Given the description of an element on the screen output the (x, y) to click on. 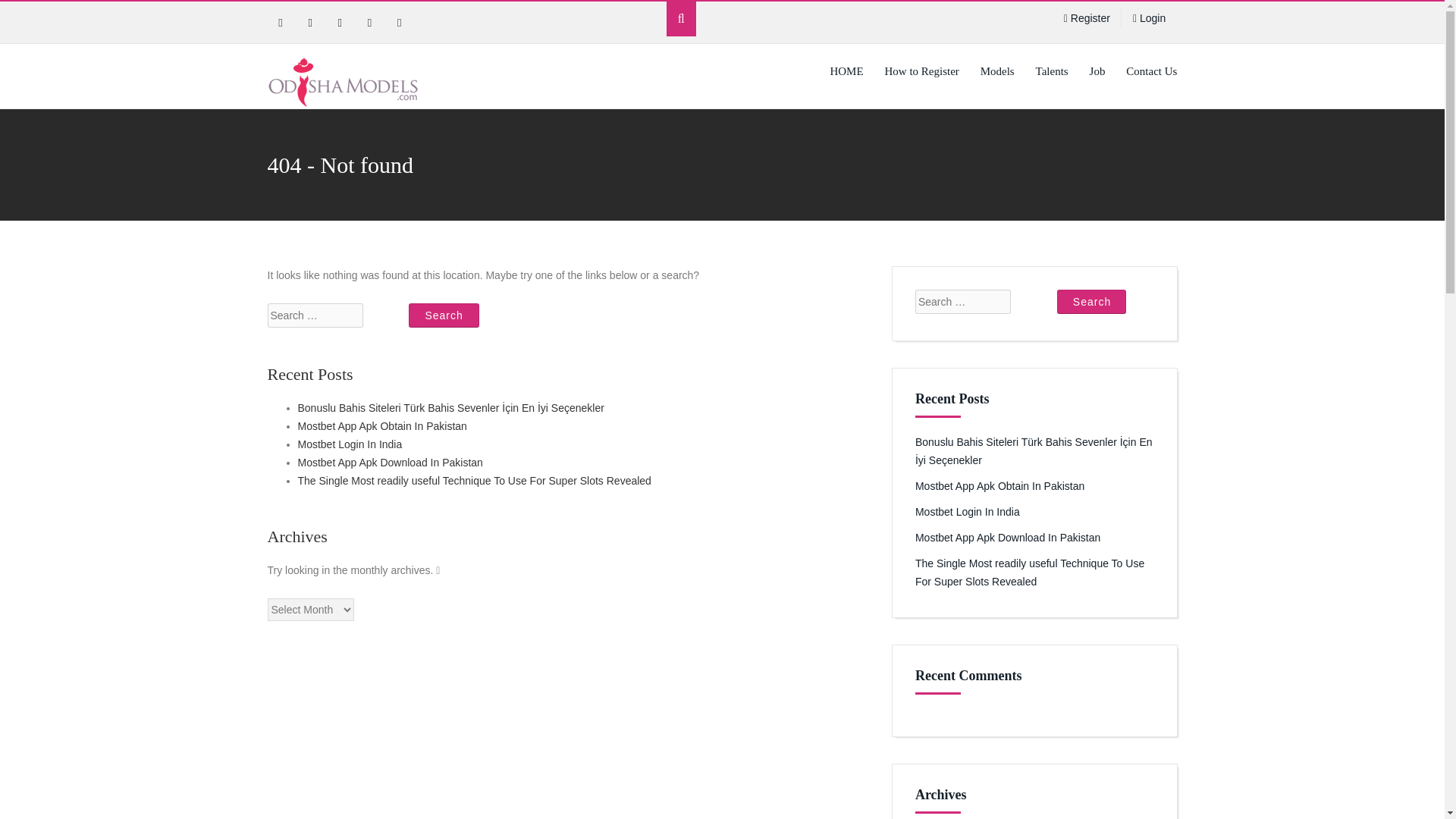
Contact Us (1151, 71)
Talents (1051, 71)
Mostbet Login In India (349, 444)
Search (444, 315)
Mostbet App Apk Download In Pakistan (389, 462)
Search (444, 315)
Search (444, 315)
Search (1091, 301)
Mostbet App Apk Obtain In Pakistan (999, 485)
Search (1091, 301)
Models (997, 71)
HOME (846, 71)
Search (1091, 301)
Login (1149, 18)
